Given the description of an element on the screen output the (x, y) to click on. 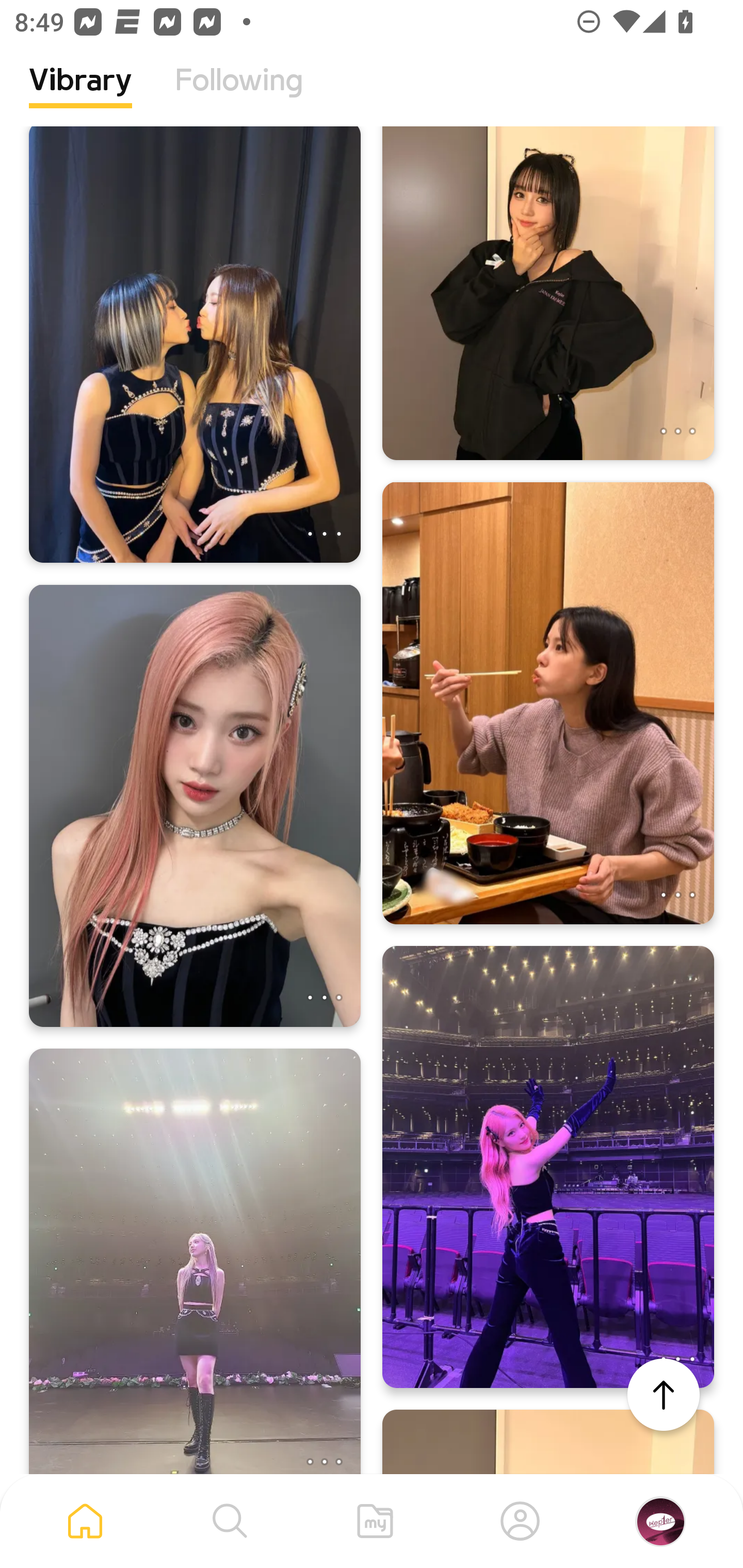
Vibrary (80, 95)
Following (239, 95)
